Given the description of an element on the screen output the (x, y) to click on. 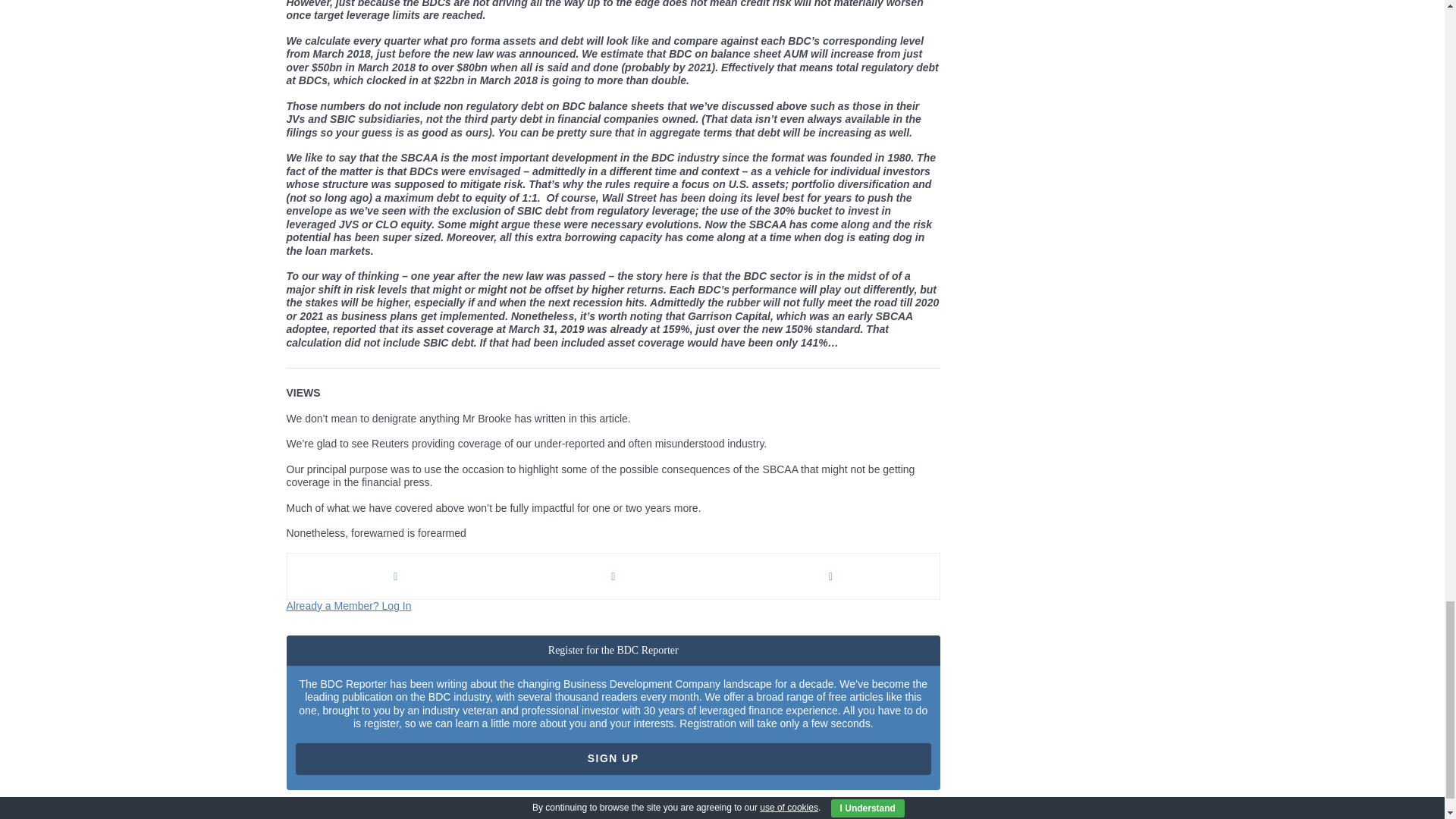
SIGN UP (613, 758)
Already a Member? Log In (349, 605)
